Given the description of an element on the screen output the (x, y) to click on. 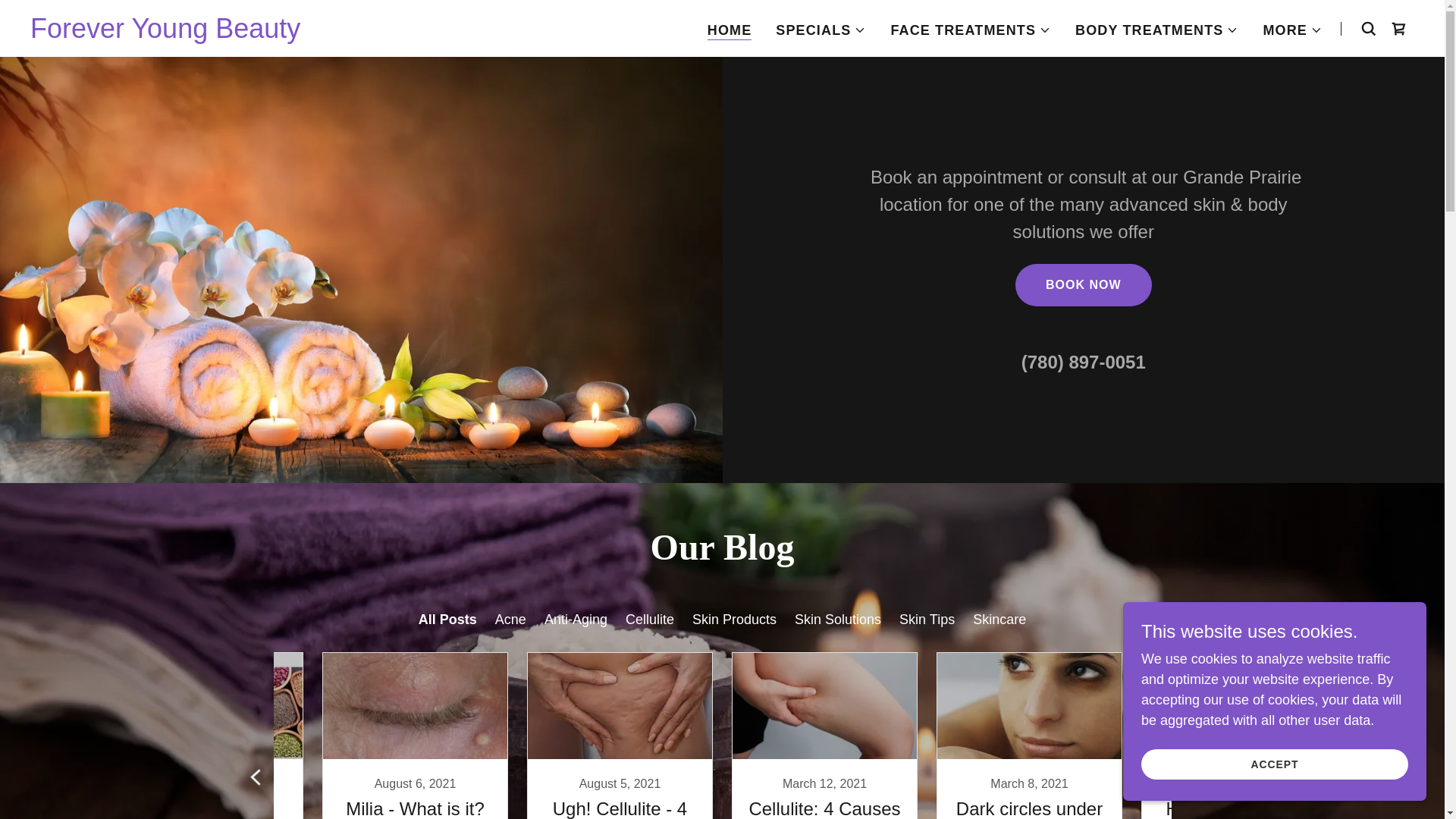
MORE (1292, 30)
Forever Young Beauty (164, 32)
HOME (729, 30)
FACE TREATMENTS (970, 30)
SPECIALS (821, 30)
Forever Young Beauty  (164, 32)
BODY TREATMENTS (1157, 30)
